Given the description of an element on the screen output the (x, y) to click on. 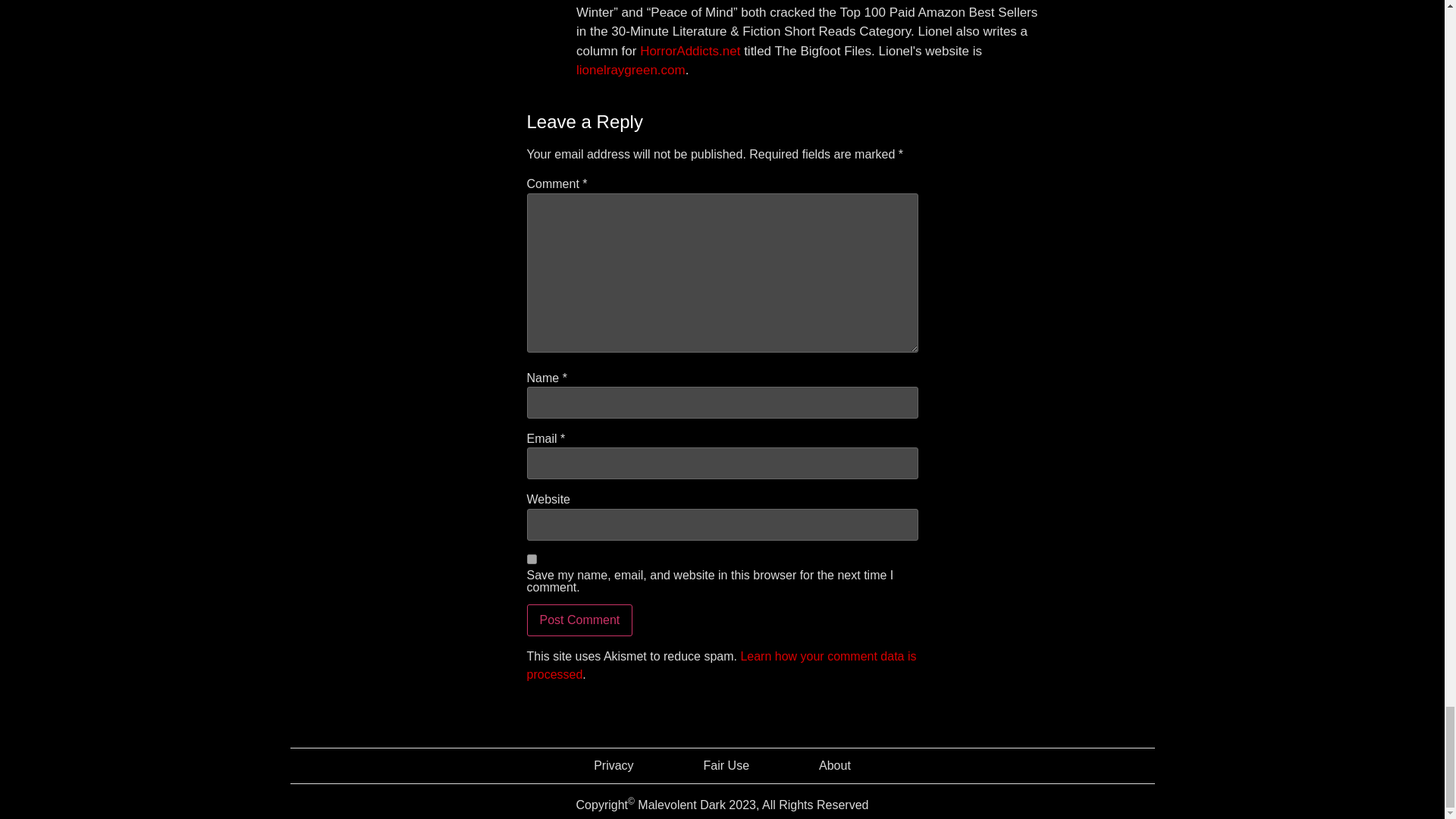
yes (530, 559)
Post Comment (578, 620)
